Given the description of an element on the screen output the (x, y) to click on. 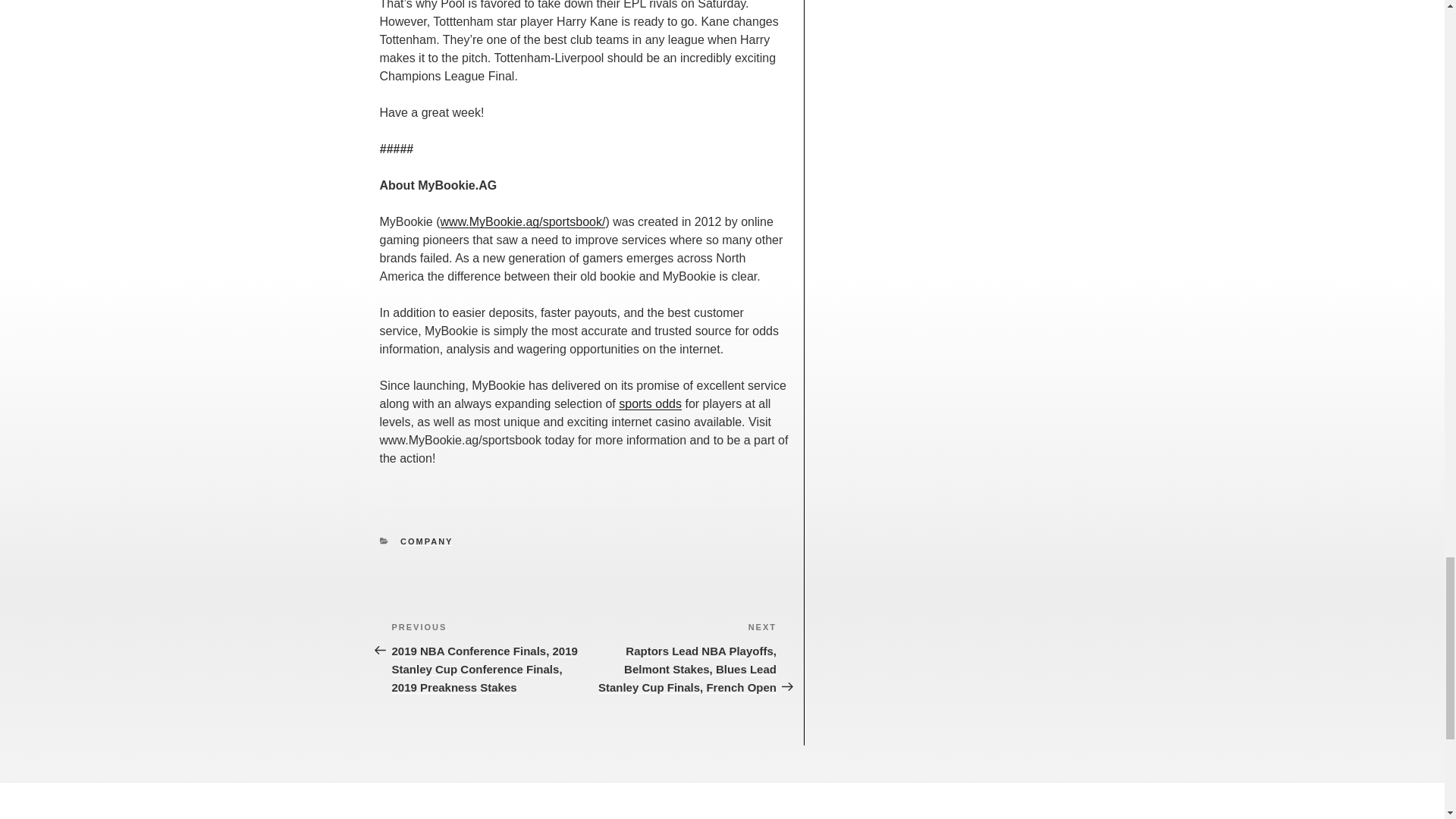
COMPANY (426, 541)
sports odds (649, 403)
